Given the description of an element on the screen output the (x, y) to click on. 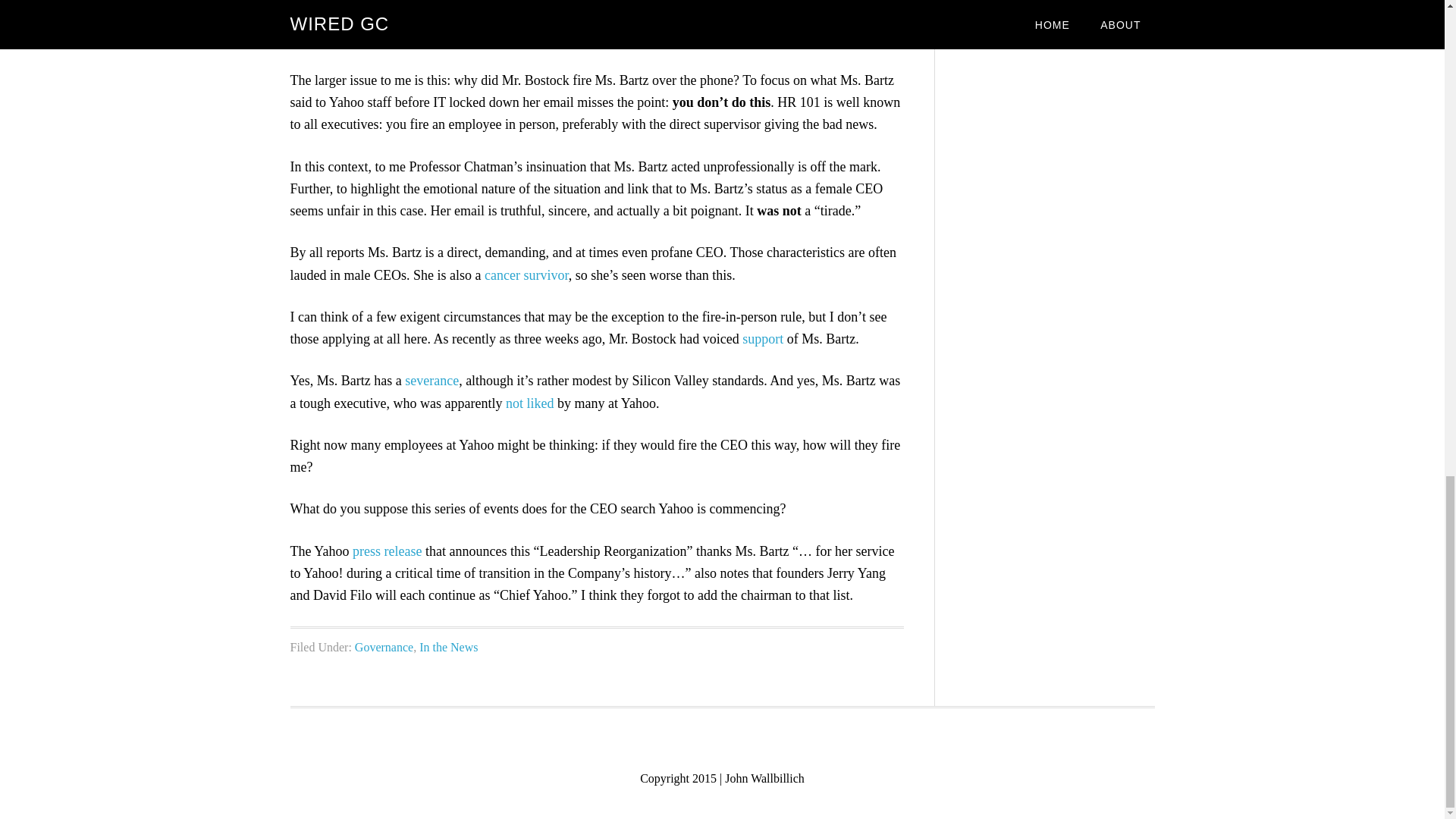
cancer survivor (526, 274)
support (762, 338)
not liked (529, 402)
Governance (384, 646)
strikes back (503, 38)
press release (387, 550)
In the News (448, 646)
severance (431, 380)
